Given the description of an element on the screen output the (x, y) to click on. 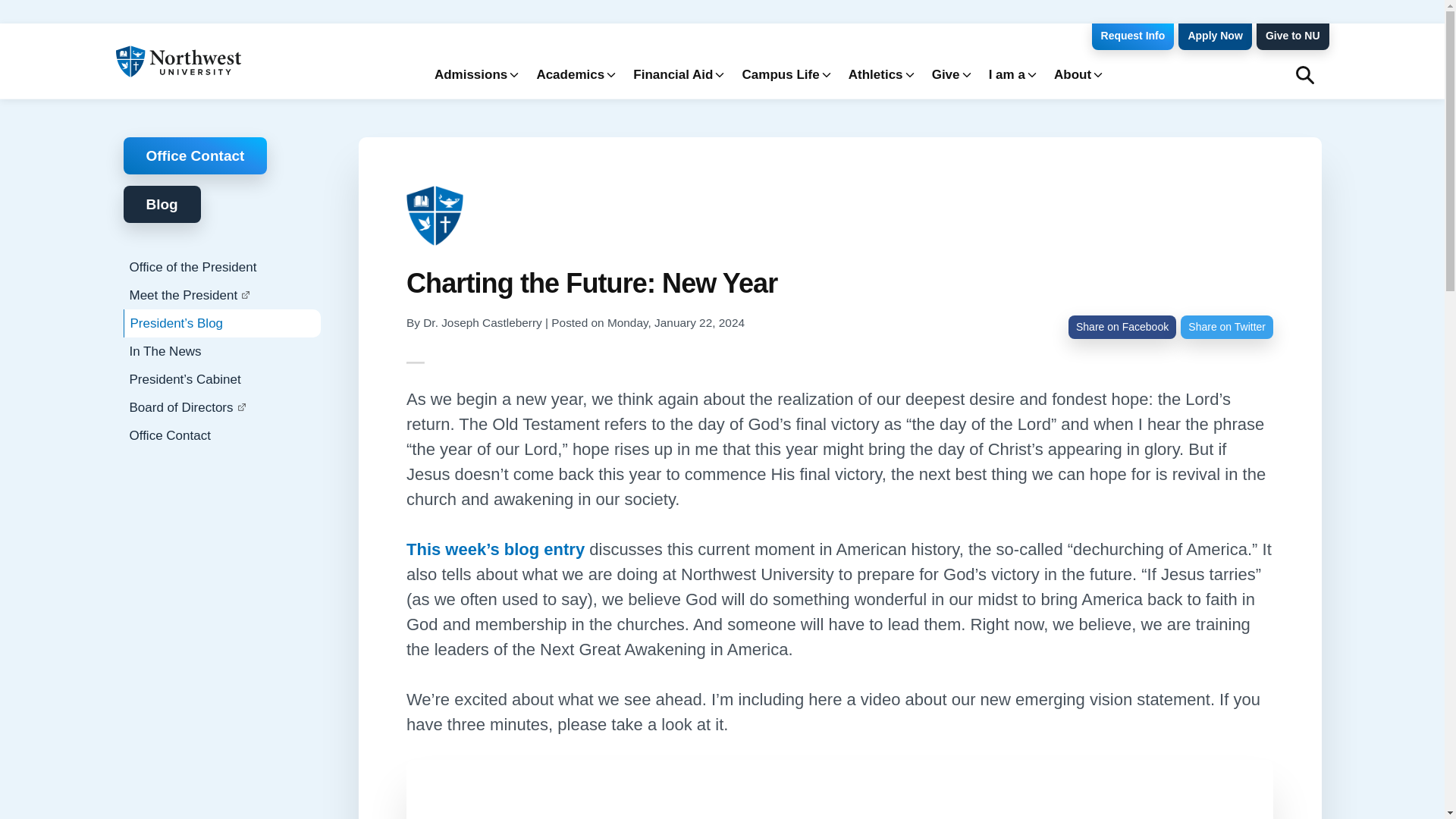
Give to NU (1292, 36)
Request Info (1133, 36)
Financial Aid (676, 74)
Admissions (473, 74)
Search Our Website (1303, 74)
Apply Now (1213, 36)
Academics (573, 74)
